Given the description of an element on the screen output the (x, y) to click on. 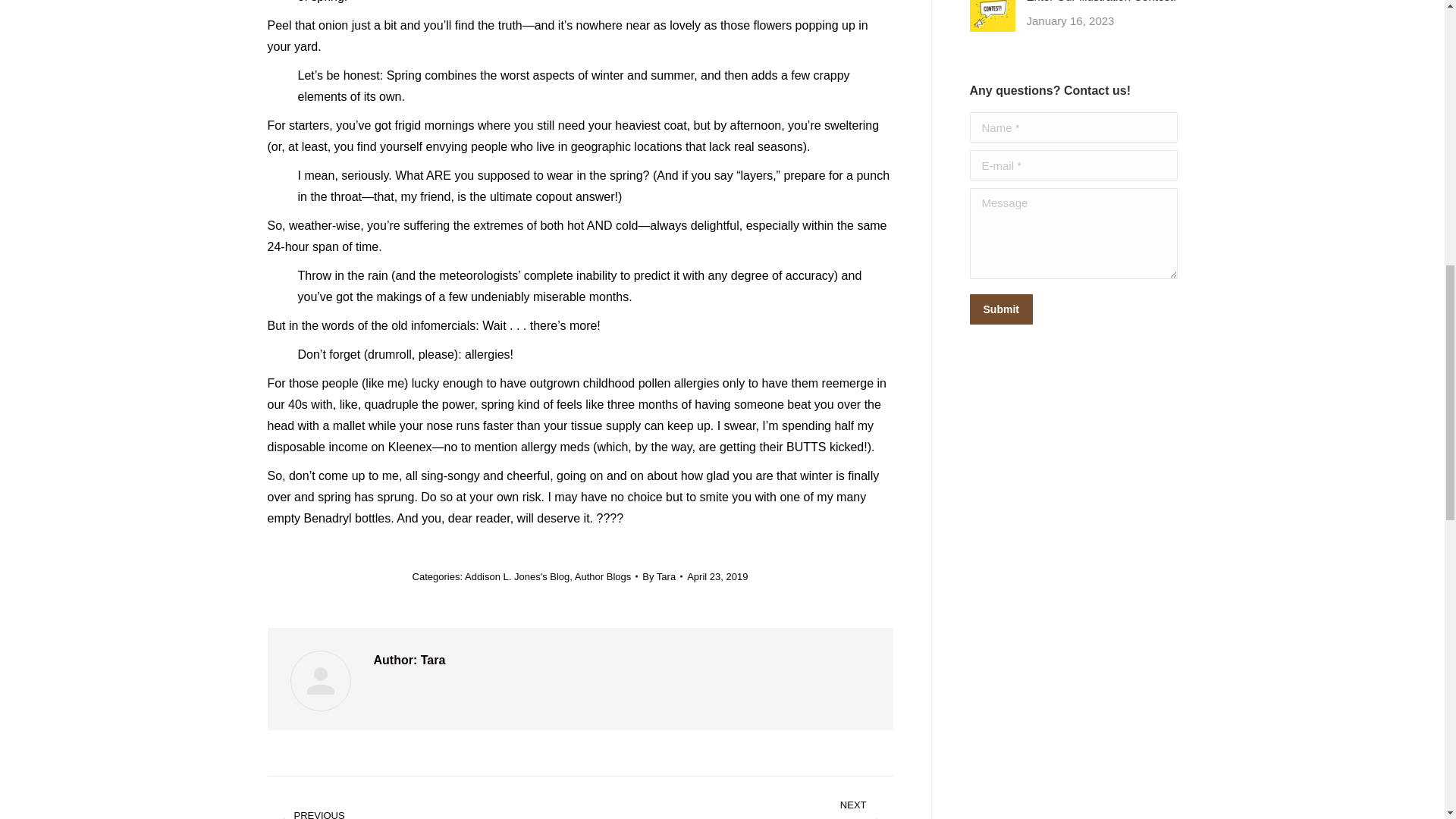
3:51 pm (717, 576)
submit (1073, 310)
View all posts by Tara (662, 576)
